Given the description of an element on the screen output the (x, y) to click on. 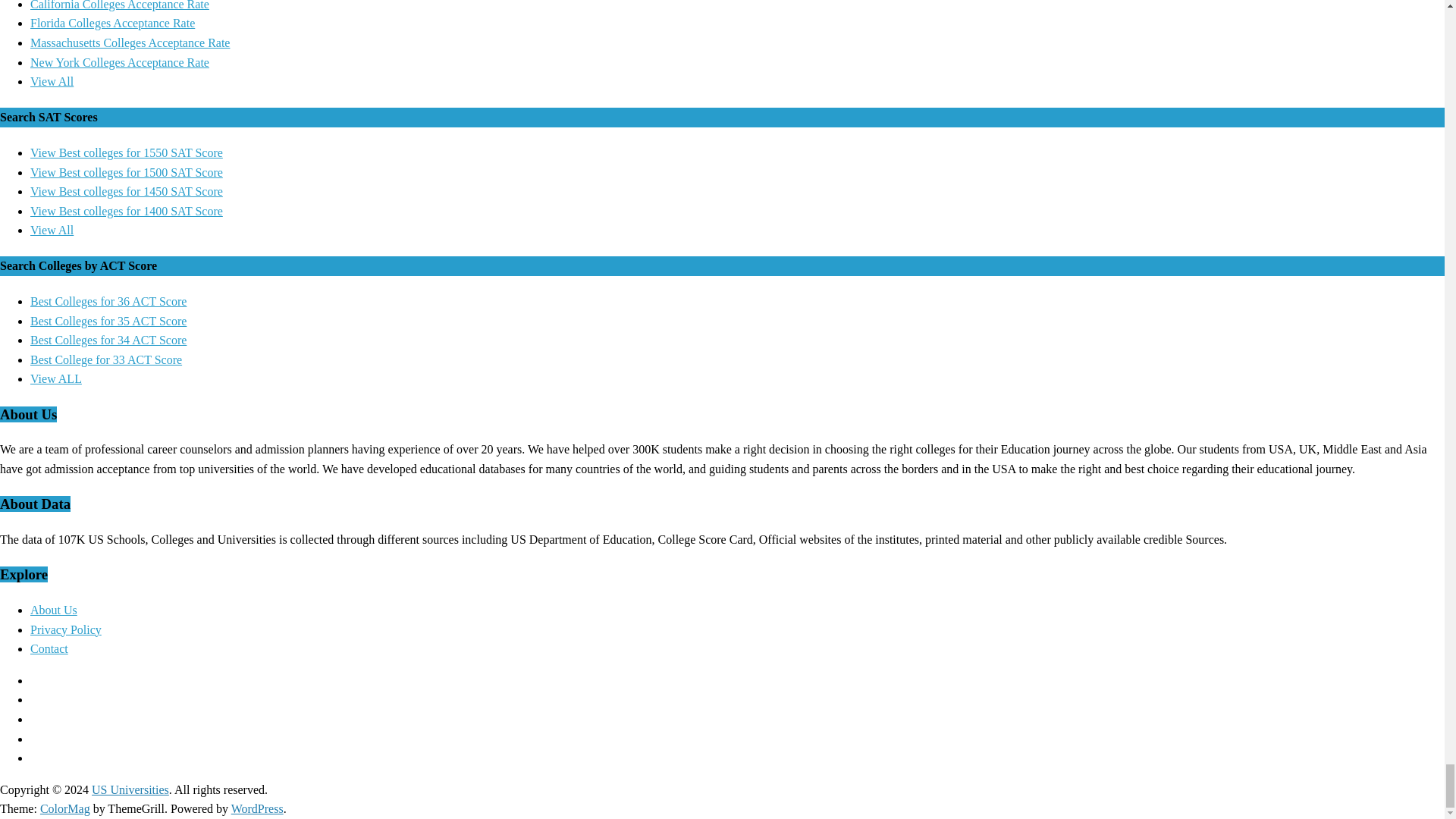
ColorMag (65, 808)
US Universities (129, 789)
WordPress (257, 808)
